Given the description of an element on the screen output the (x, y) to click on. 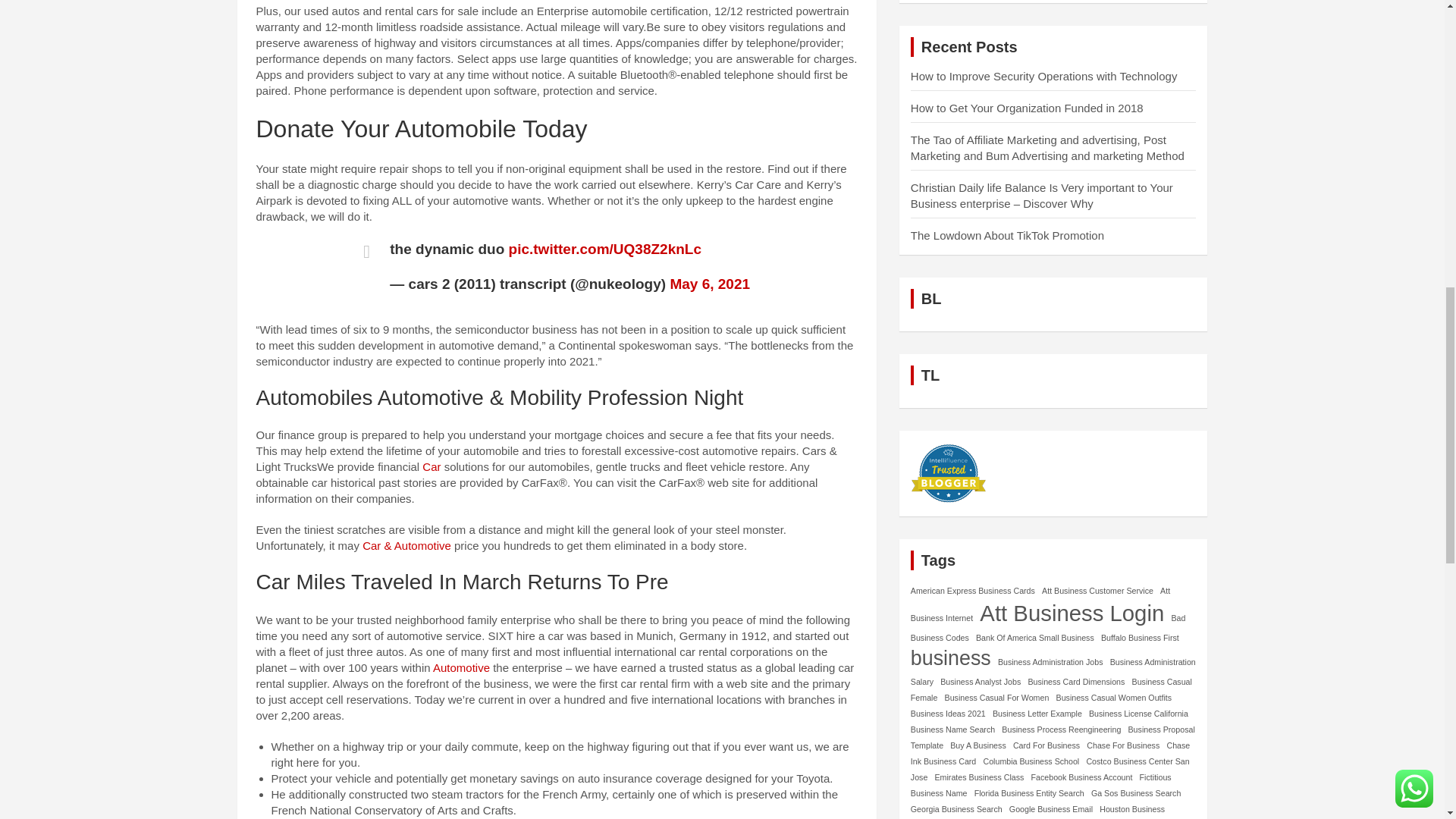
How to Improve Security Operations with Technology (1044, 75)
How to Get Your Organization Funded in 2018 (1026, 107)
May 6, 2021 (709, 283)
Automotive (460, 667)
Car (431, 466)
